Given the description of an element on the screen output the (x, y) to click on. 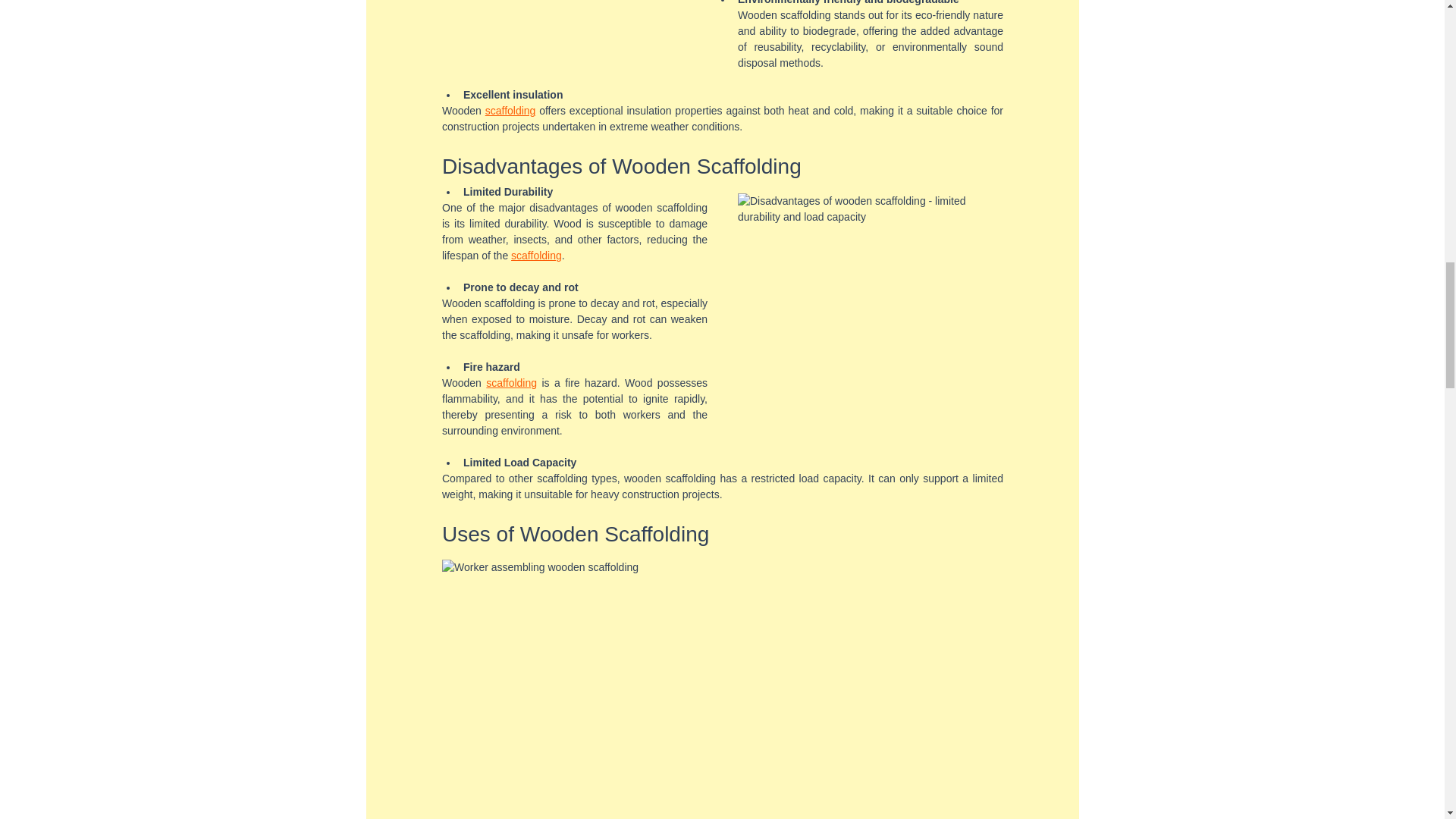
scaffolding (511, 382)
scaffolding (509, 110)
scaffolding (536, 255)
